Given the description of an element on the screen output the (x, y) to click on. 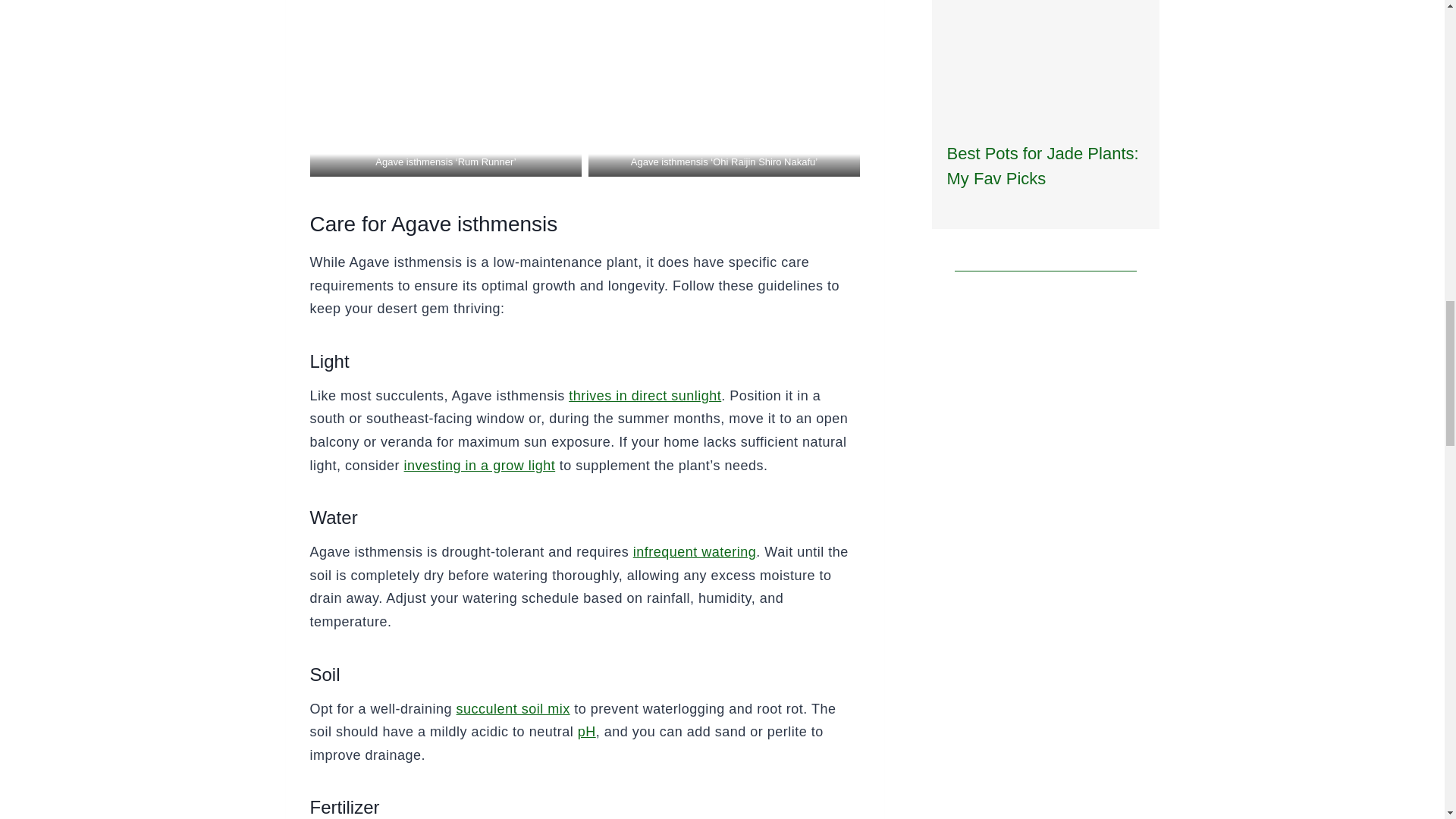
investing in a grow light (480, 465)
pH (586, 731)
infrequent watering (695, 551)
thrives in direct sunlight (644, 395)
succulent soil mix (513, 708)
